Given the description of an element on the screen output the (x, y) to click on. 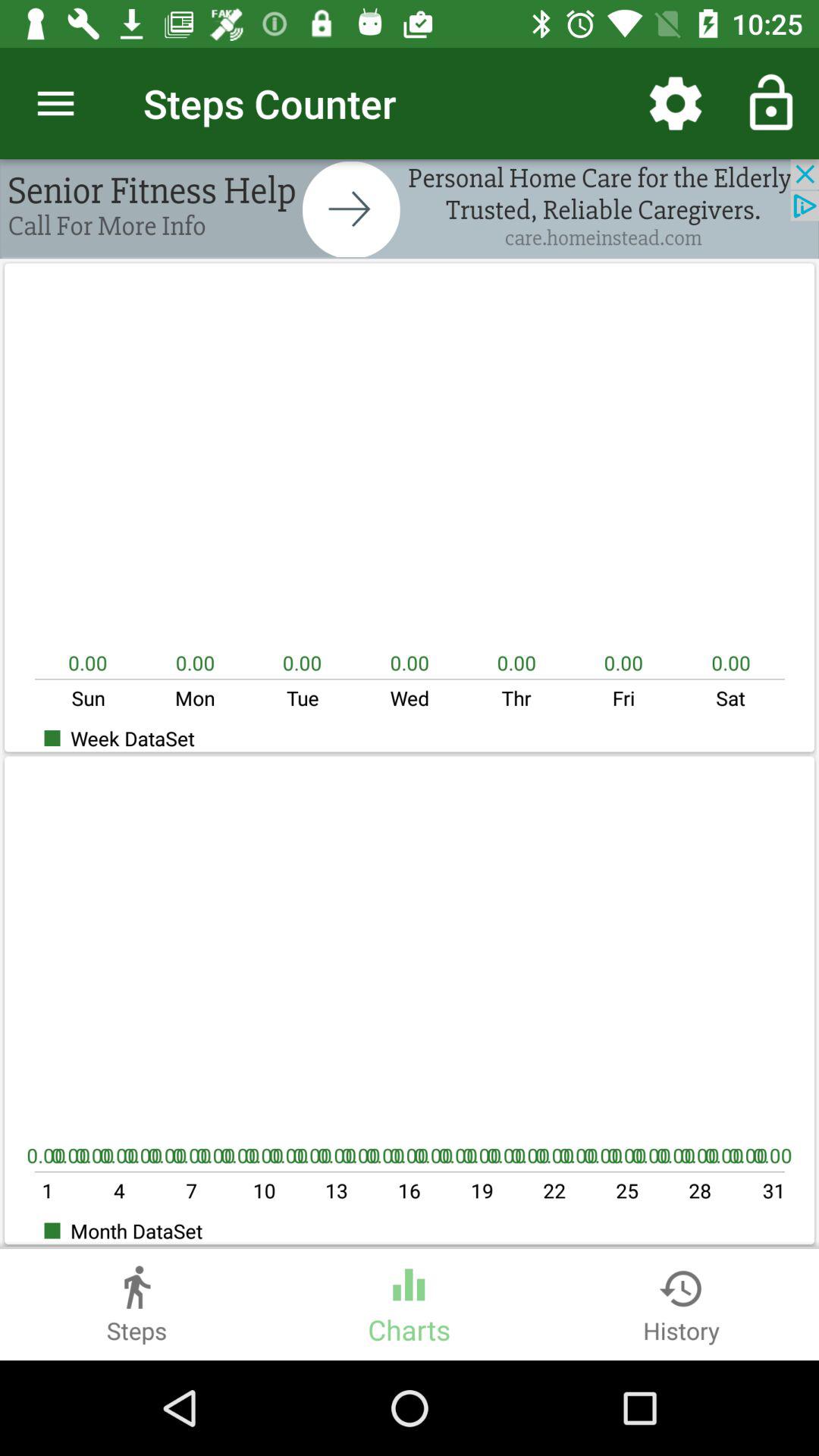
advertisement bar (409, 208)
